Given the description of an element on the screen output the (x, y) to click on. 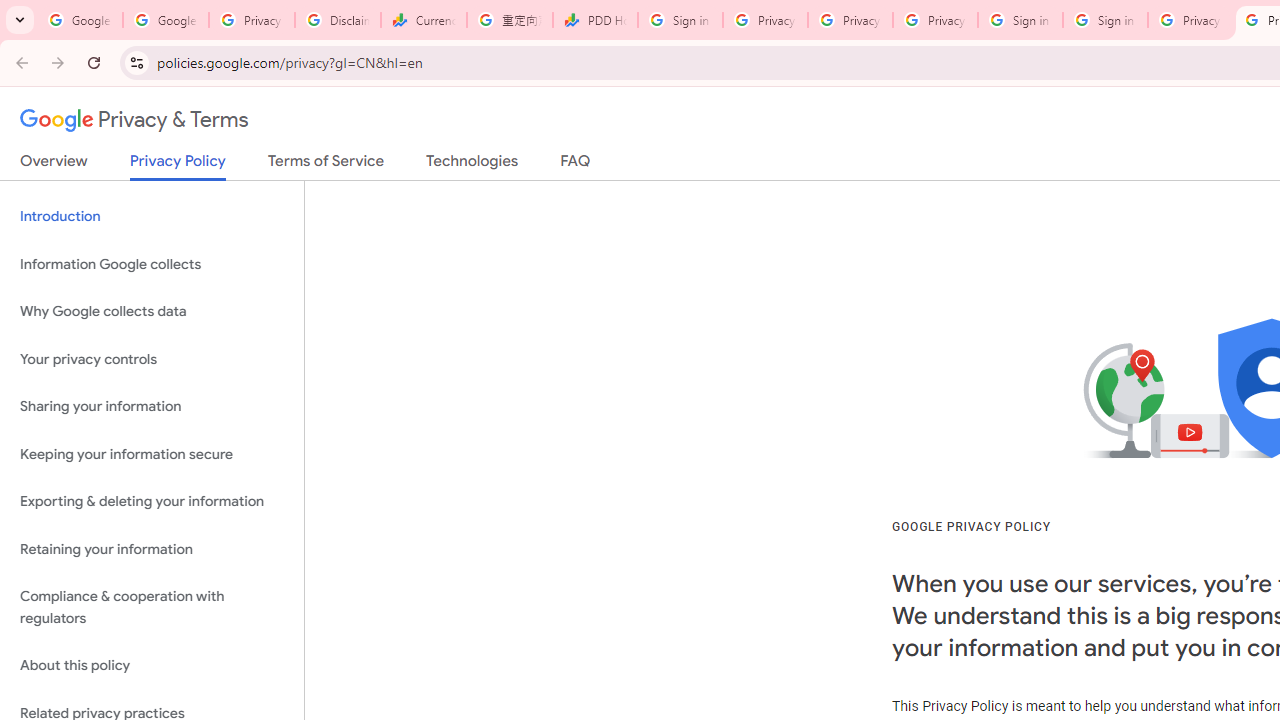
Google Workspace Admin Community (79, 20)
Sign in - Google Accounts (1105, 20)
Currencies - Google Finance (424, 20)
PDD Holdings Inc - ADR (PDD) Price & News - Google Finance (595, 20)
